Given the description of an element on the screen output the (x, y) to click on. 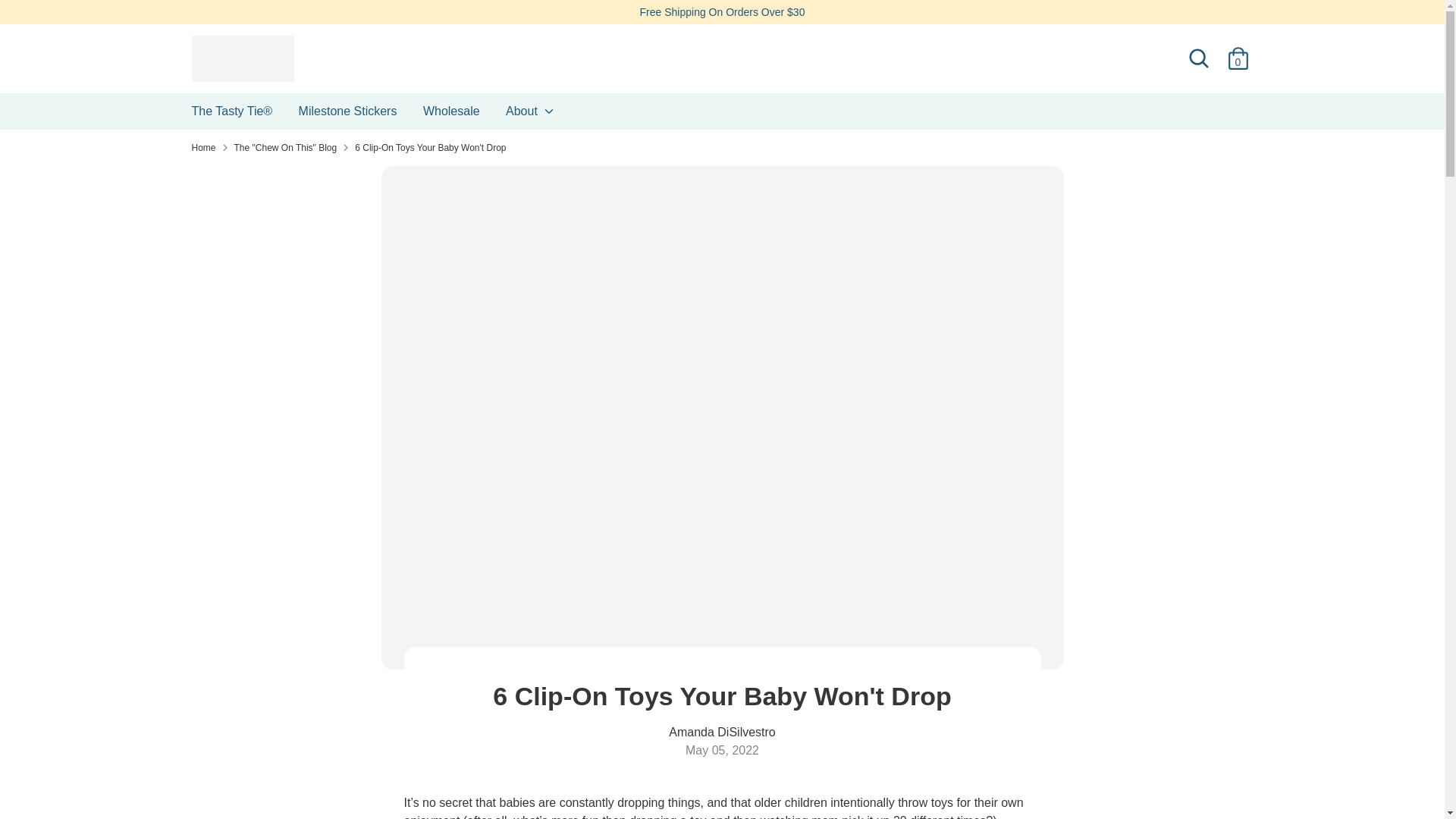
Wholesale (452, 115)
Search (1197, 58)
0 (1237, 58)
Milestone Stickers (347, 115)
About (531, 115)
